Given the description of an element on the screen output the (x, y) to click on. 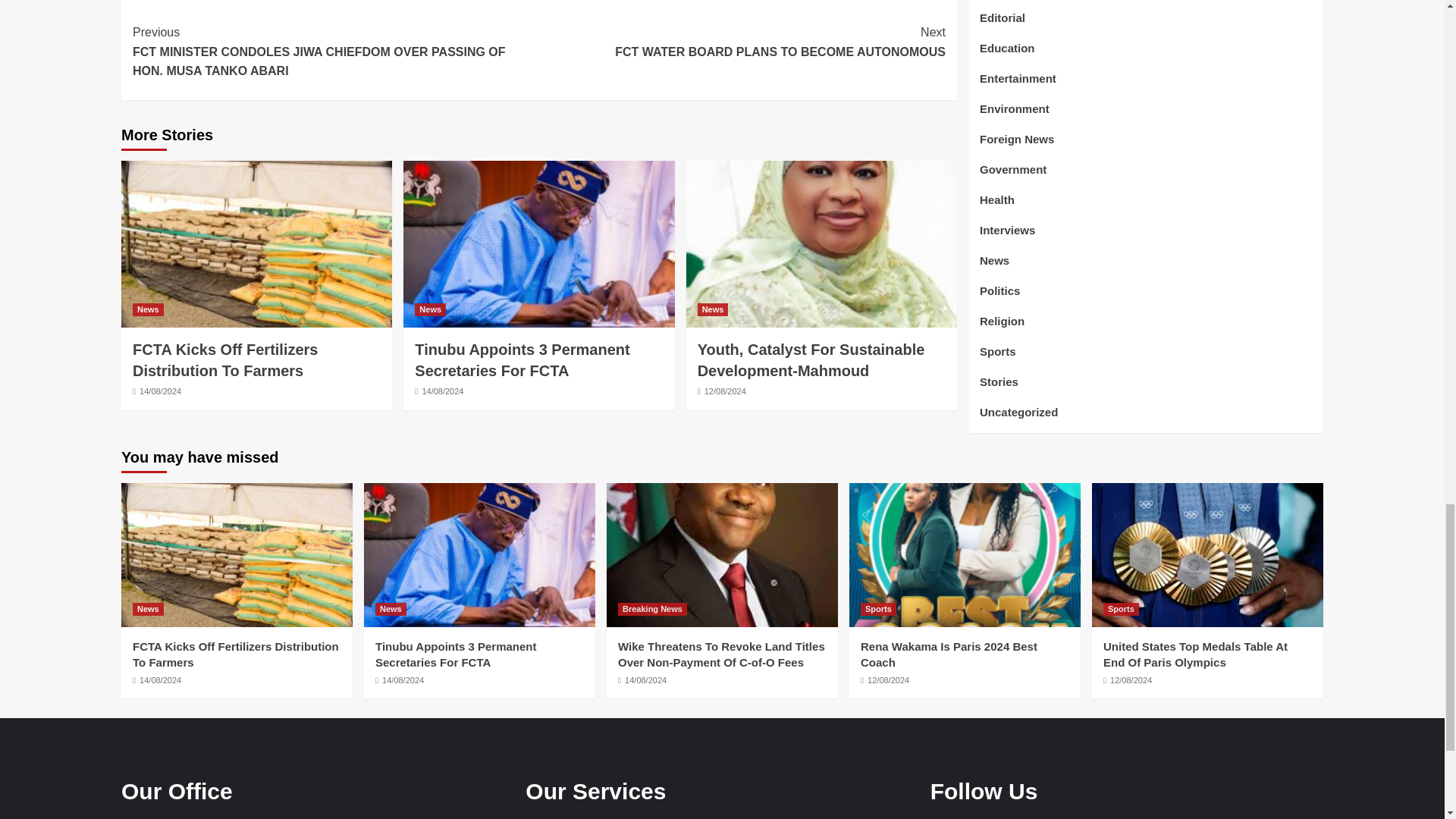
Tinubu Appoints 3 Permanent Secretaries For FCTA (521, 360)
News (147, 309)
Youth, Catalyst For Sustainable Development-Mahmoud (810, 360)
News (713, 309)
FCTA Kicks Off Fertilizers Distribution To Farmers  (225, 360)
News (429, 309)
